Given the description of an element on the screen output the (x, y) to click on. 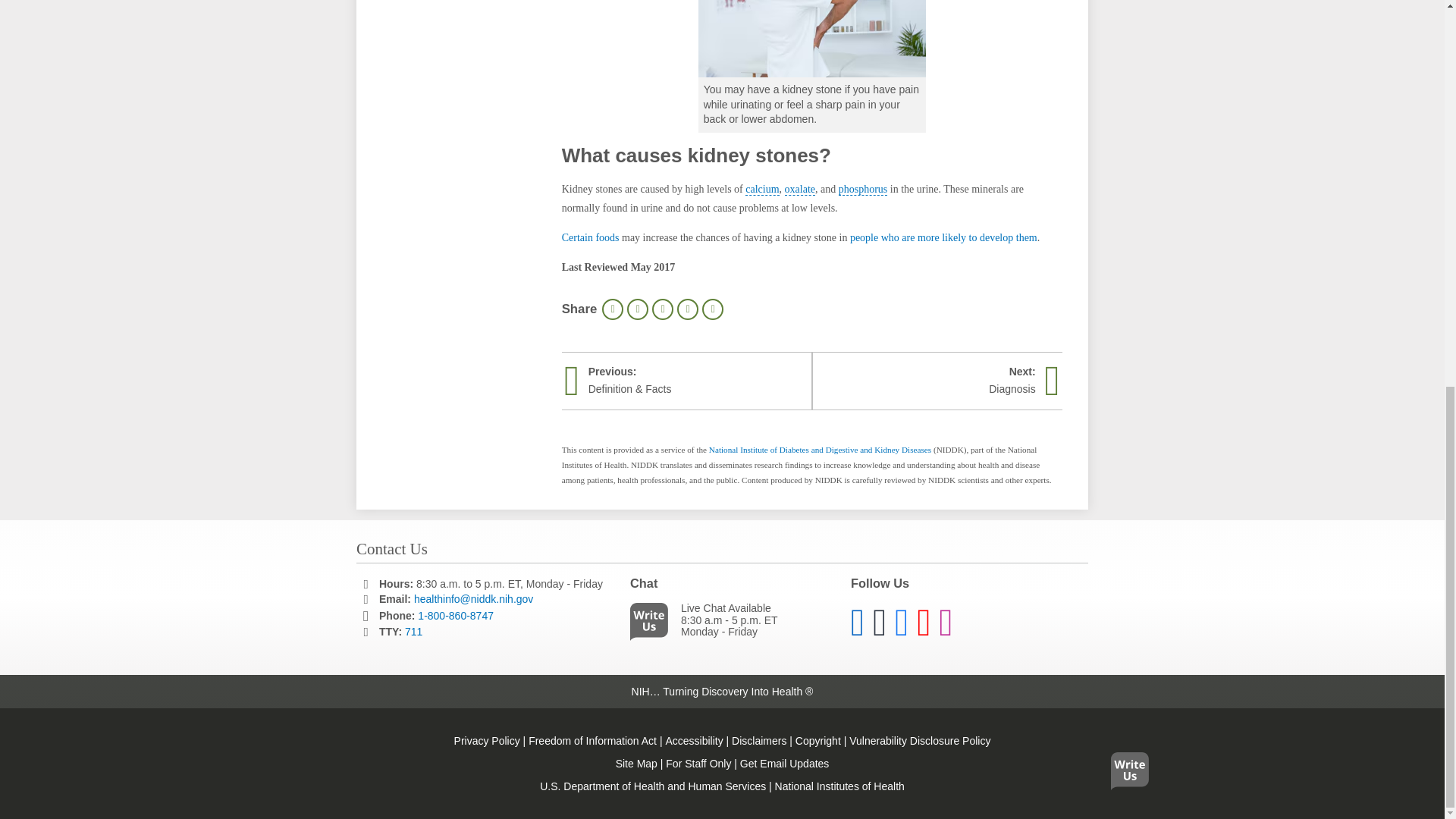
Print this page (612, 309)
Write us (652, 625)
Share this page on Facebook (637, 309)
Write us (1133, 43)
More sharing options (712, 309)
Post this page on X (662, 309)
Email this page (687, 309)
